Given the description of an element on the screen output the (x, y) to click on. 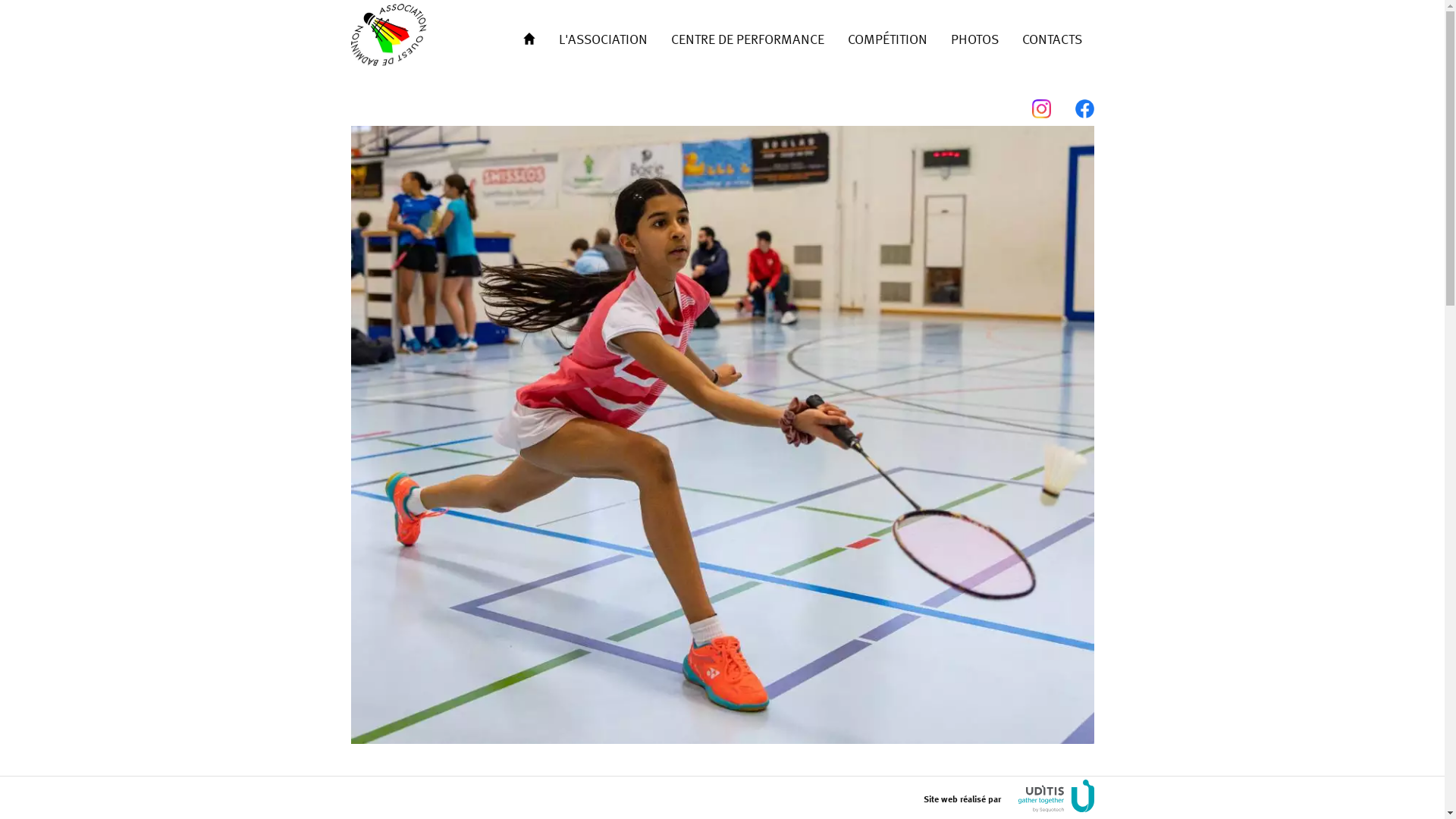
CENTRE DE PERFORMANCE Element type: text (747, 38)
PHOTOS Element type: text (974, 38)
L'ASSOCIATION Element type: text (603, 38)
UDITIS gather togeter by Sequotech Element type: text (1055, 795)
CONTACTS Element type: text (1051, 38)
